Given the description of an element on the screen output the (x, y) to click on. 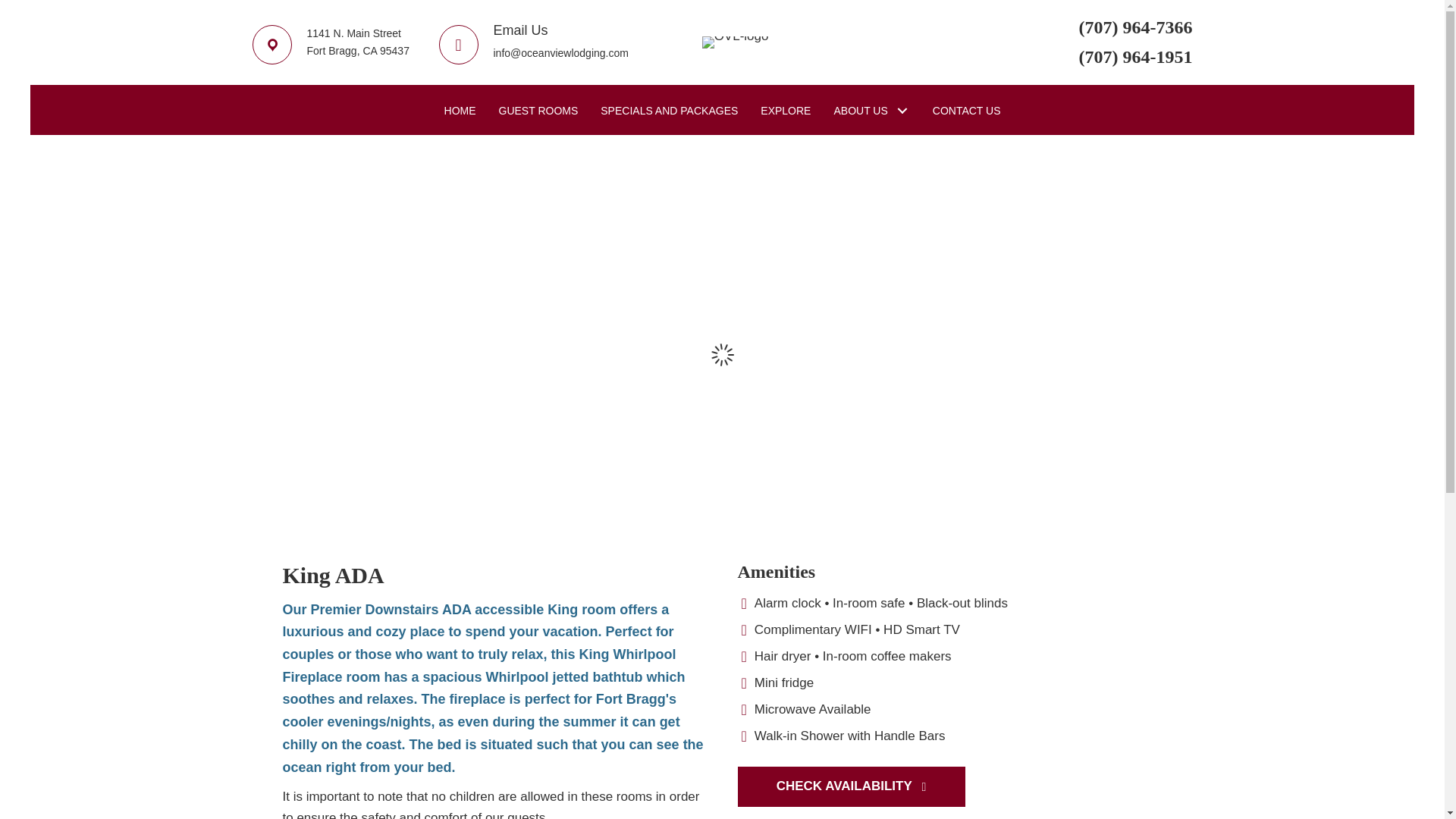
ABOUT US (871, 110)
HOME (459, 110)
GUEST ROOMS (538, 110)
SPECIALS AND PACKAGES (669, 110)
CHECK AVAILABILITY (849, 786)
EXPLORE (785, 110)
CONTACT US (966, 110)
OVL-logo (734, 42)
